Given the description of an element on the screen output the (x, y) to click on. 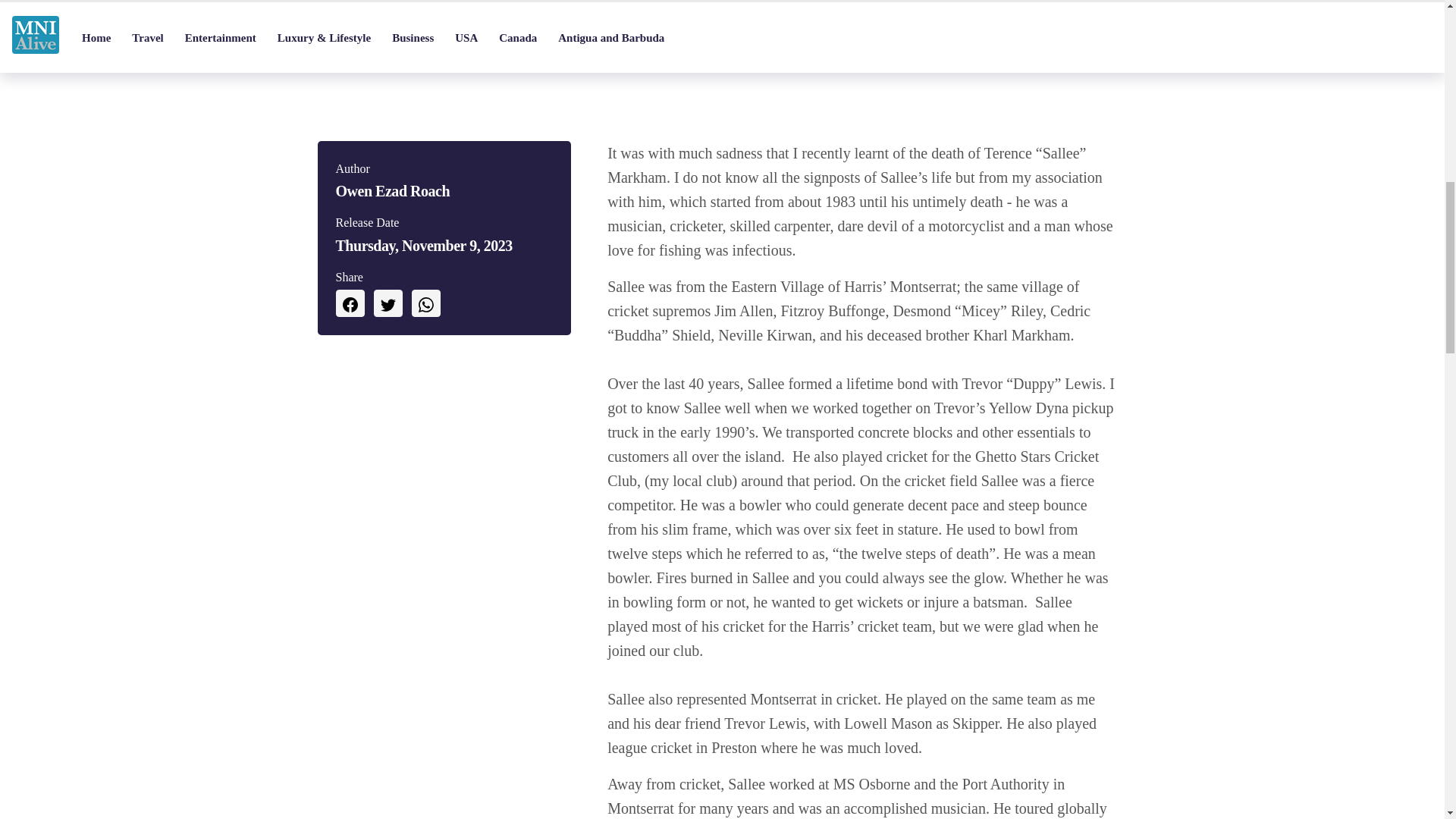
Share on WhatsApp (424, 302)
Share on Facebook (349, 302)
Share on Twitter (386, 302)
